Given the description of an element on the screen output the (x, y) to click on. 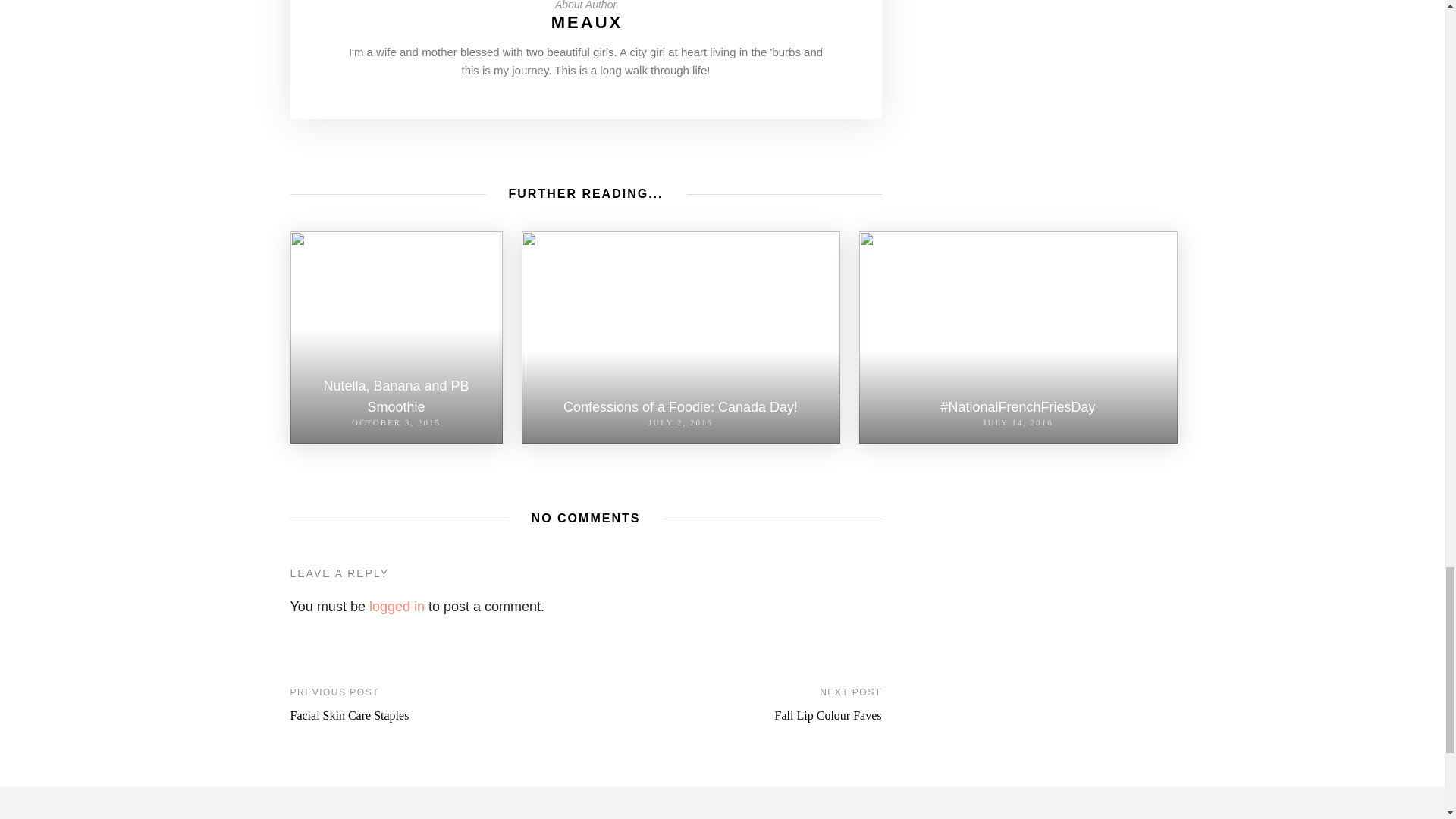
Posts by Meaux (587, 22)
